Given the description of an element on the screen output the (x, y) to click on. 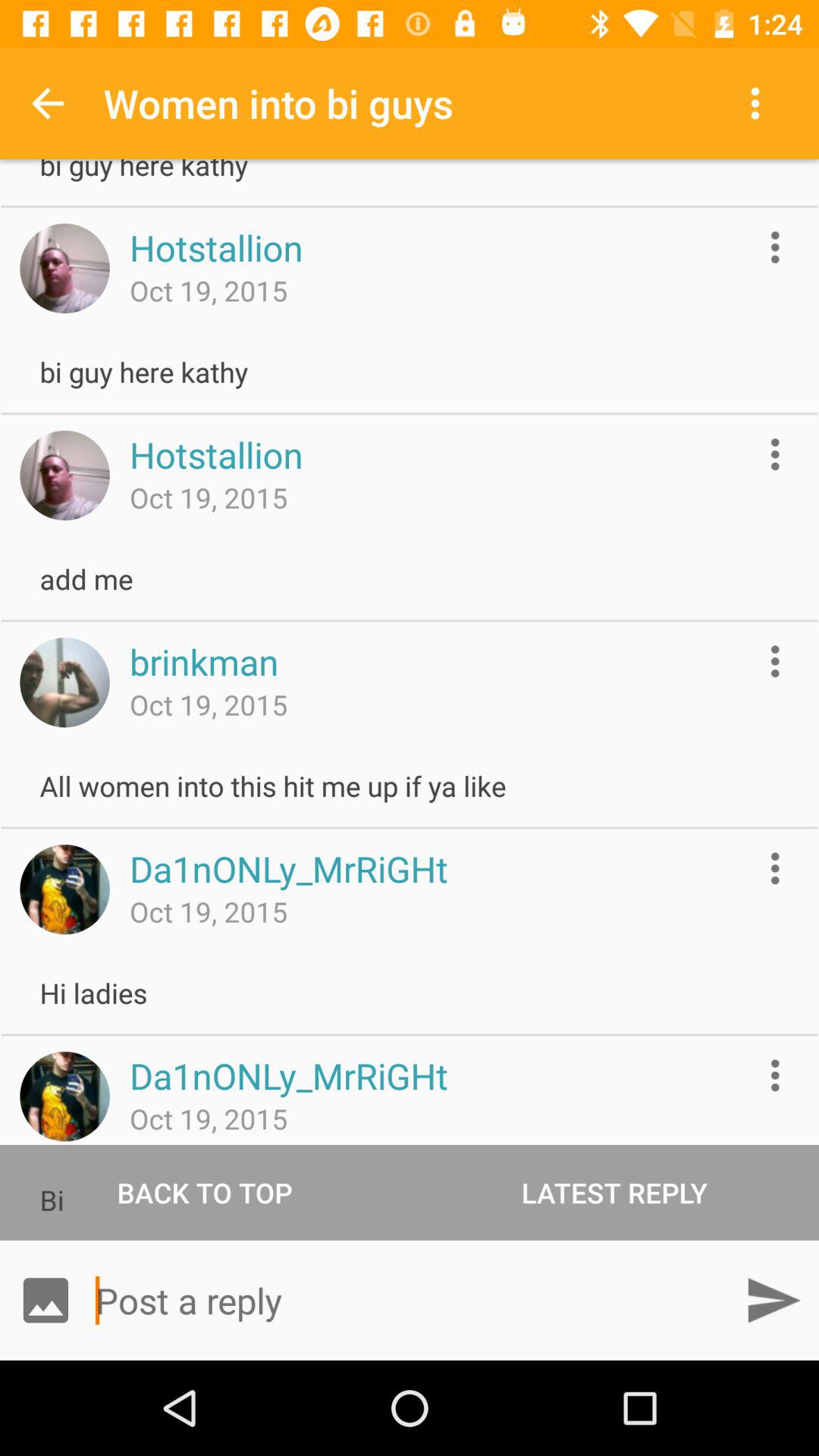
profile picture icon (64, 889)
